Given the description of an element on the screen output the (x, y) to click on. 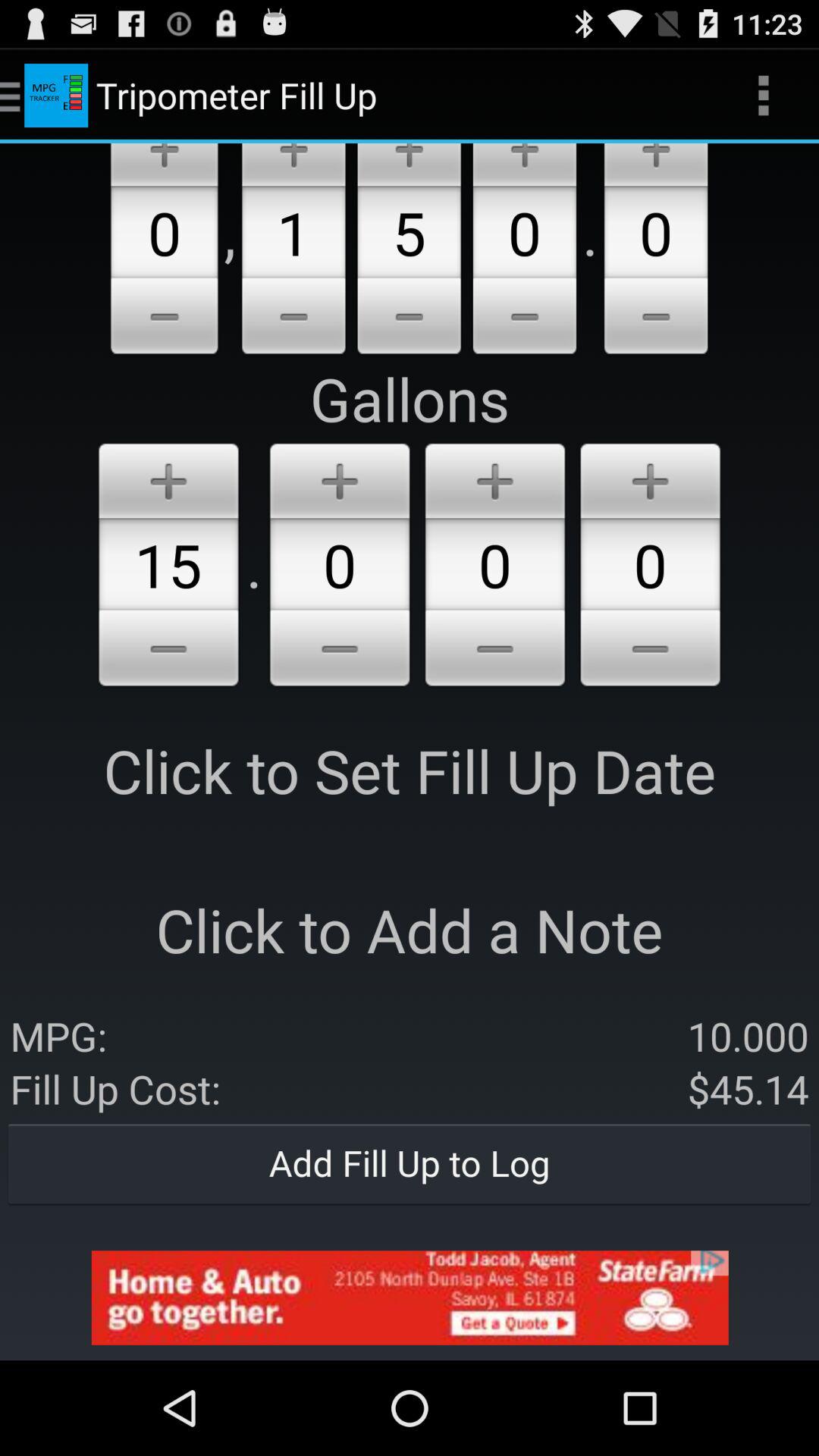
increase millage (655, 164)
